Given the description of an element on the screen output the (x, y) to click on. 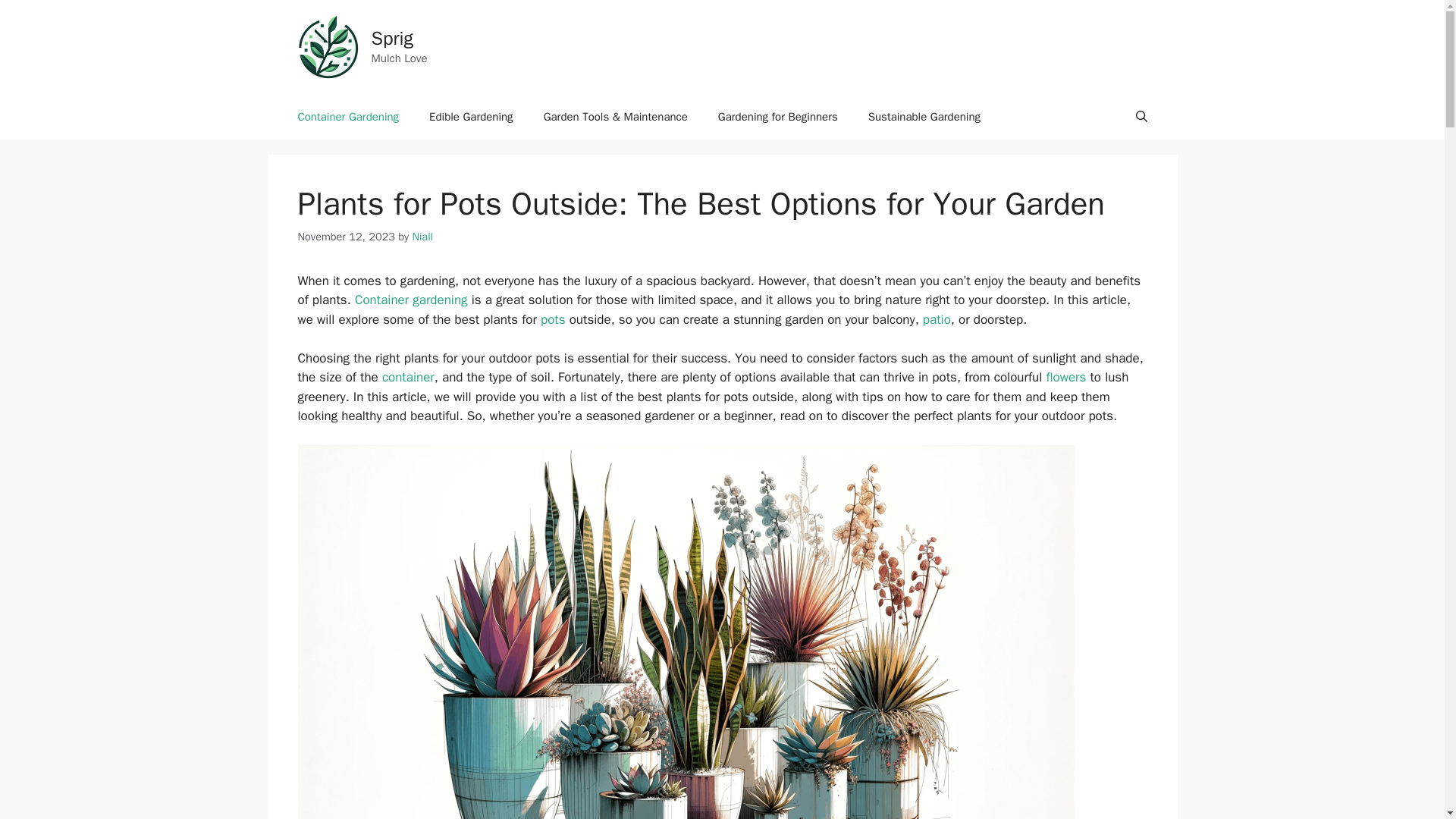
Sprig (392, 37)
Container Gardening (347, 116)
Niall (422, 236)
Container gardening (411, 299)
flowers (1065, 376)
Edible Gardening (470, 116)
pots (553, 319)
View all posts by Niall (422, 236)
Sustainable Gardening (924, 116)
patio (936, 319)
container (407, 376)
Gardening for Beginners (778, 116)
